Given the description of an element on the screen output the (x, y) to click on. 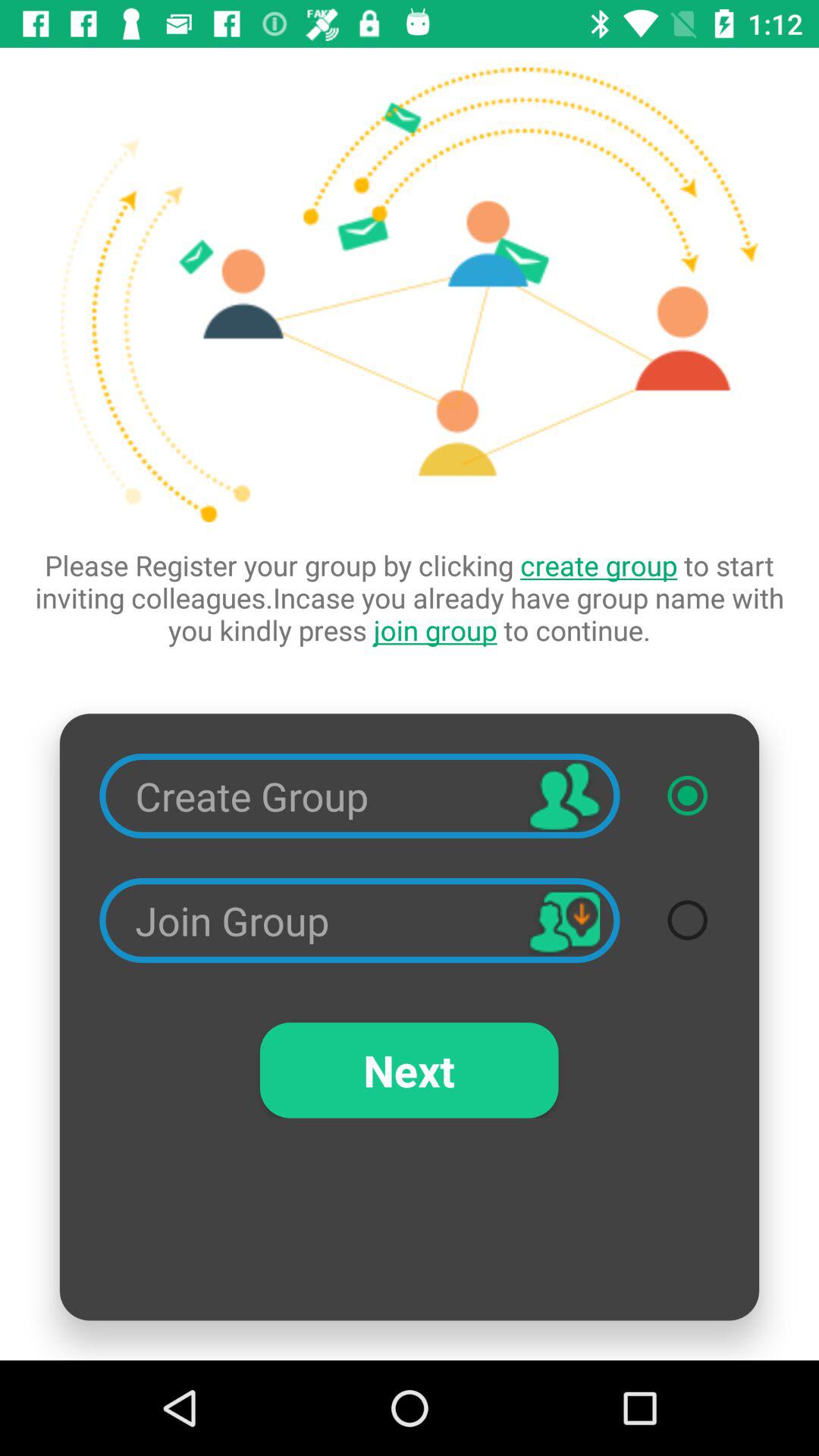
turn off icon at the center (409, 597)
